Given the description of an element on the screen output the (x, y) to click on. 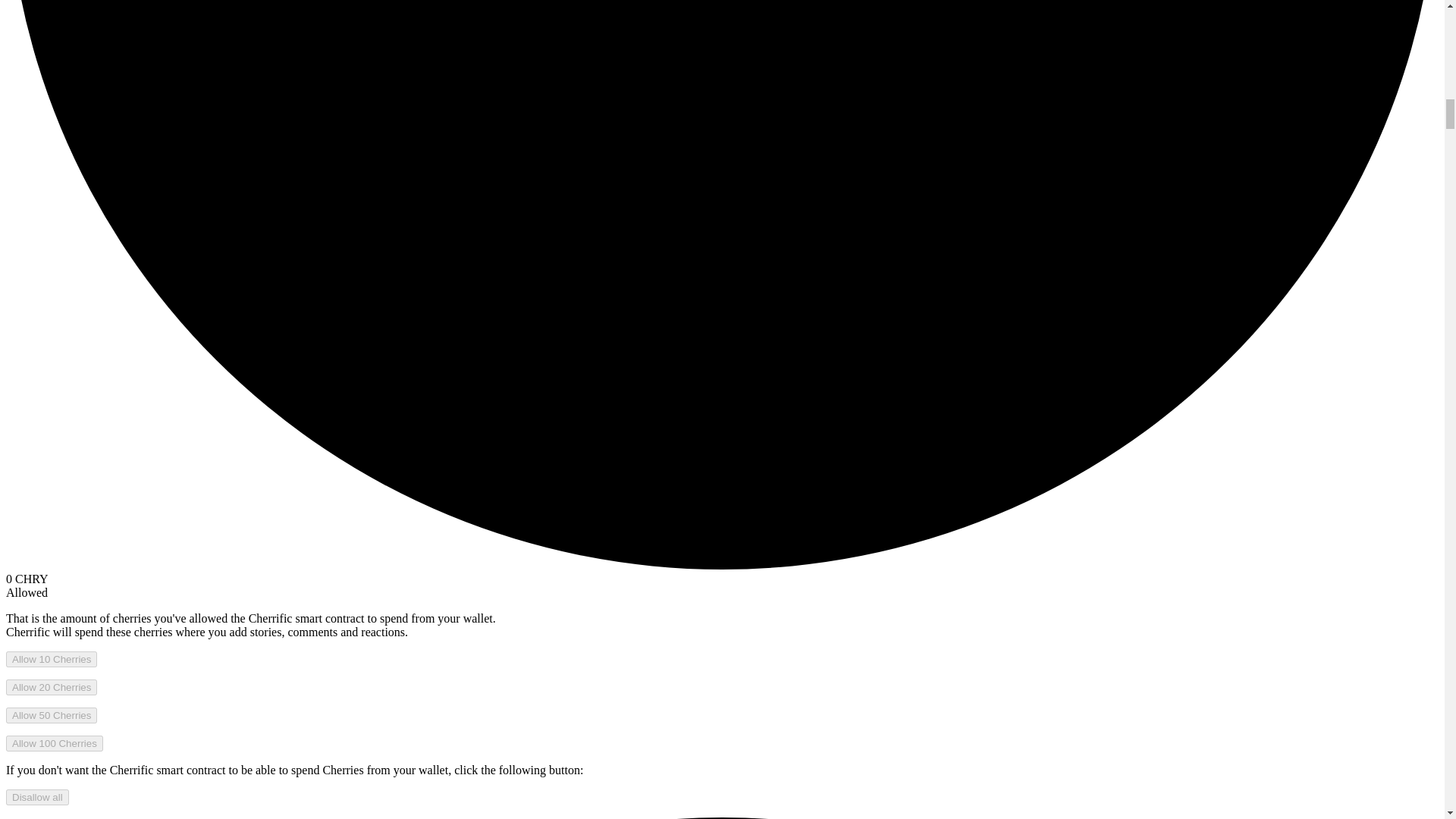
Allow 100 Cherries (54, 743)
Disallow all (36, 797)
Allow 10 Cherries (51, 659)
Allow 20 Cherries (51, 687)
Allow 50 Cherries (51, 715)
